Given the description of an element on the screen output the (x, y) to click on. 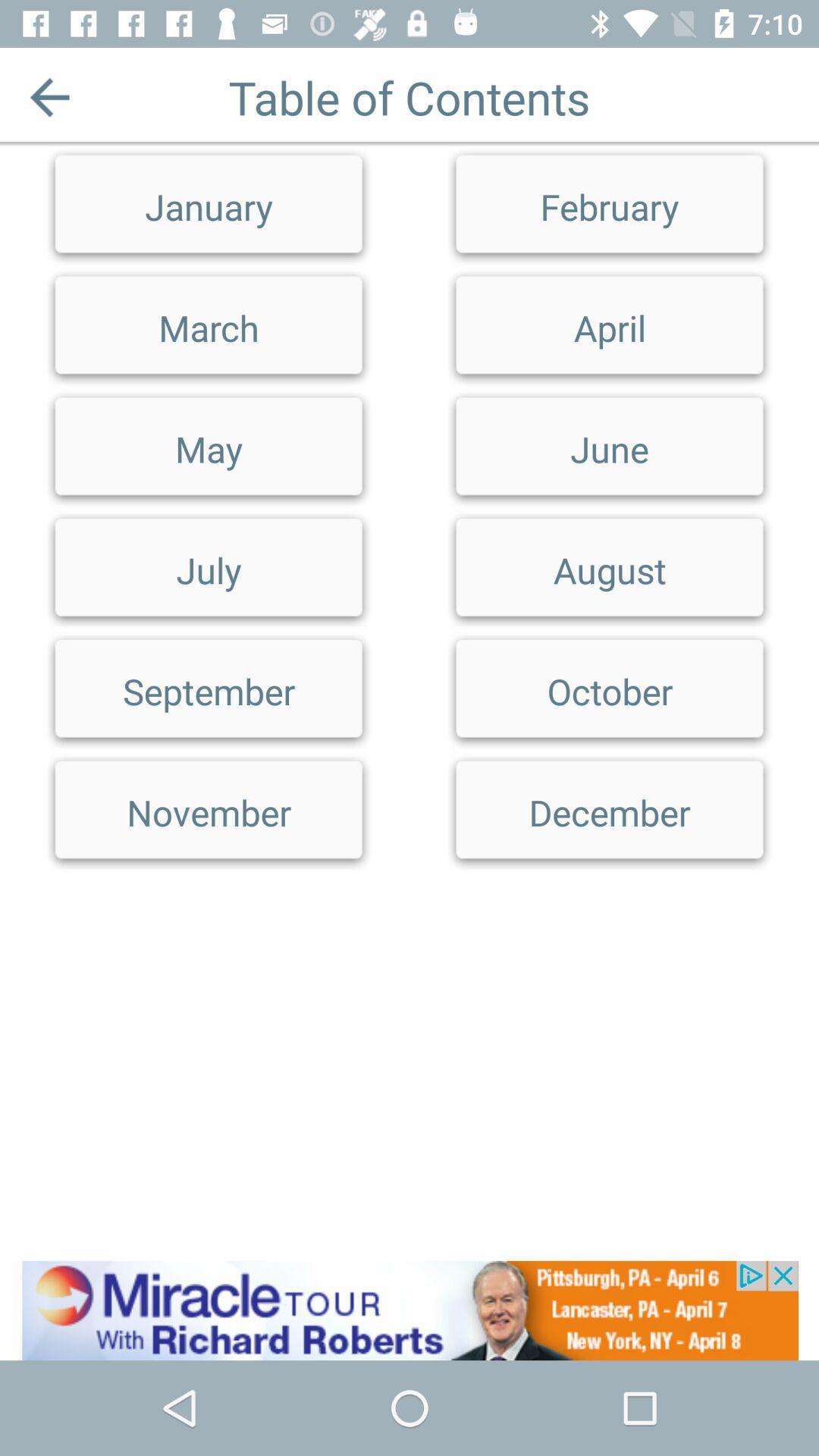
visit miracle tour (409, 1310)
